Given the description of an element on the screen output the (x, y) to click on. 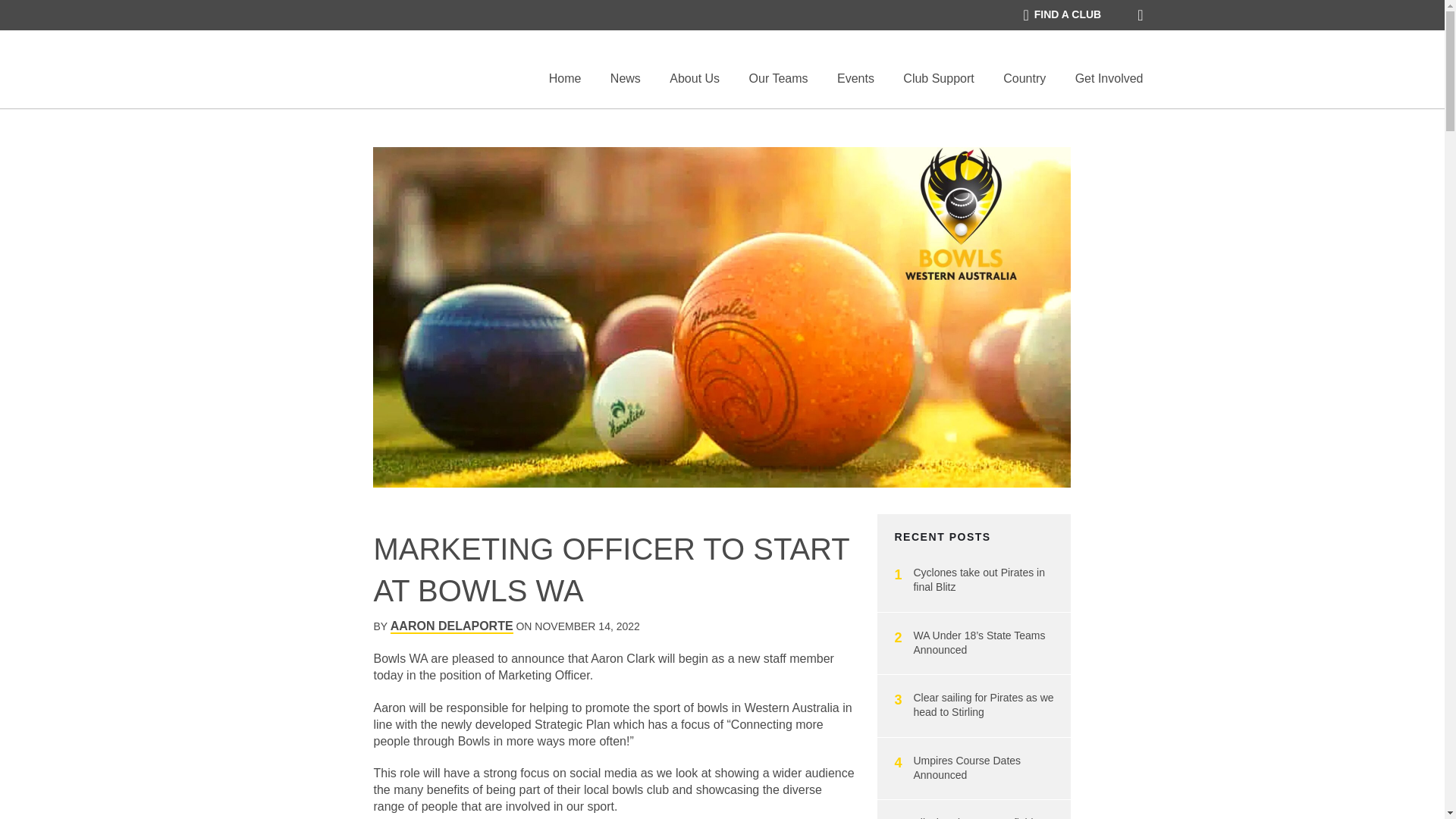
FIND A CLUB (1061, 15)
